Given the description of an element on the screen output the (x, y) to click on. 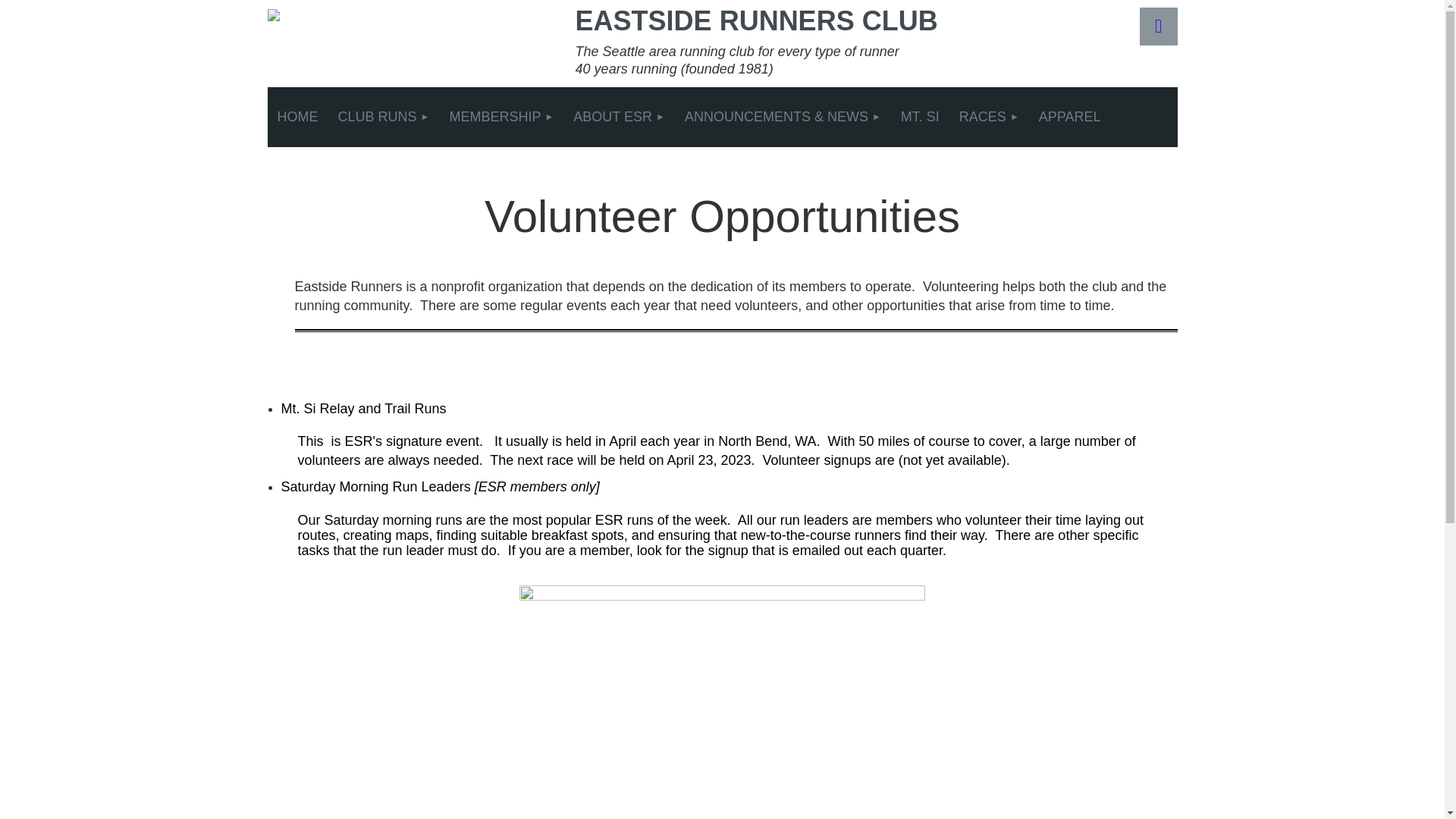
HOME (296, 116)
Log in (1157, 26)
MEMBERSHIP (501, 116)
CLUB RUNS (383, 116)
ABOUT ESR (619, 116)
